Given the description of an element on the screen output the (x, y) to click on. 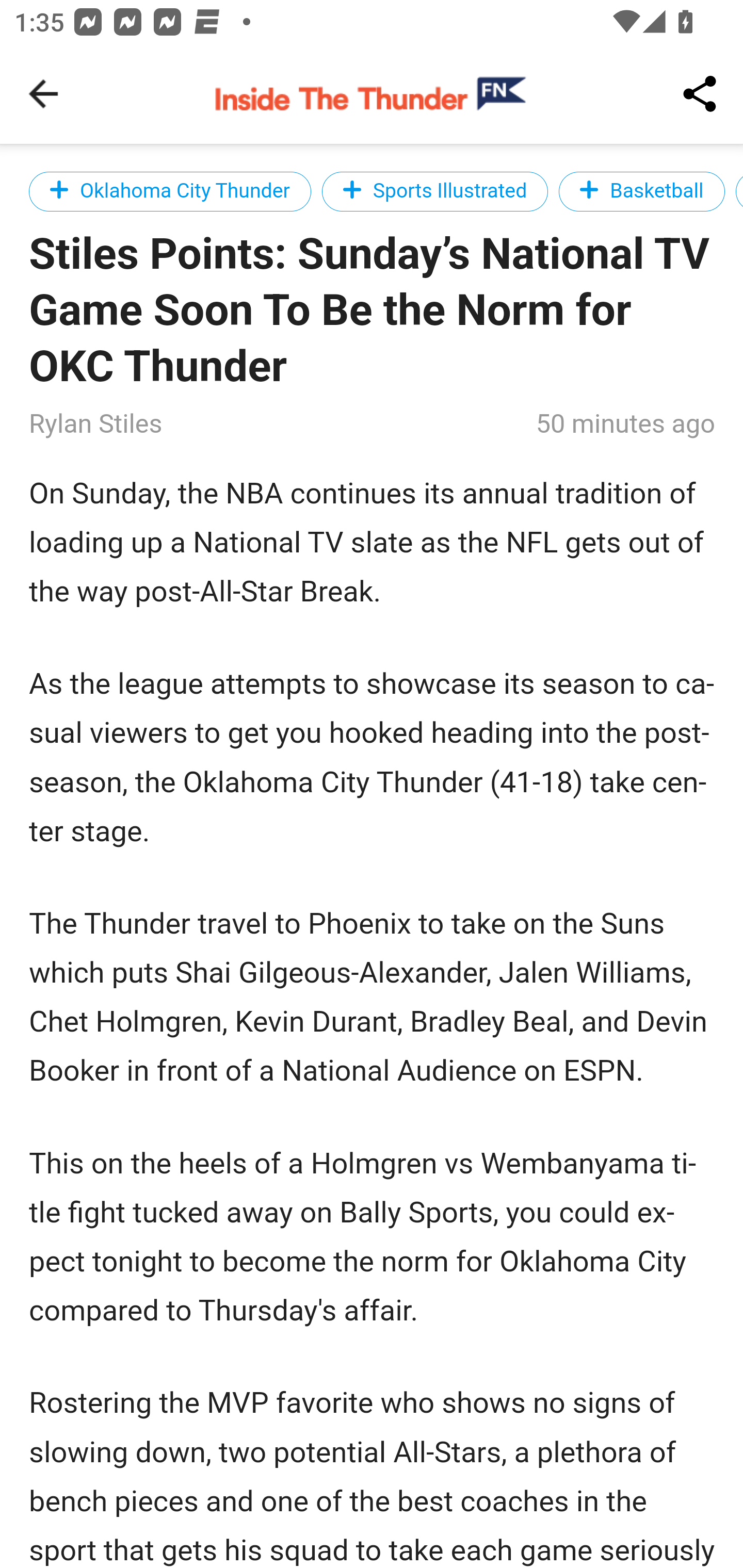
Oklahoma City Thunder (170, 191)
Sports Illustrated (435, 191)
Basketball (641, 191)
